Given the description of an element on the screen output the (x, y) to click on. 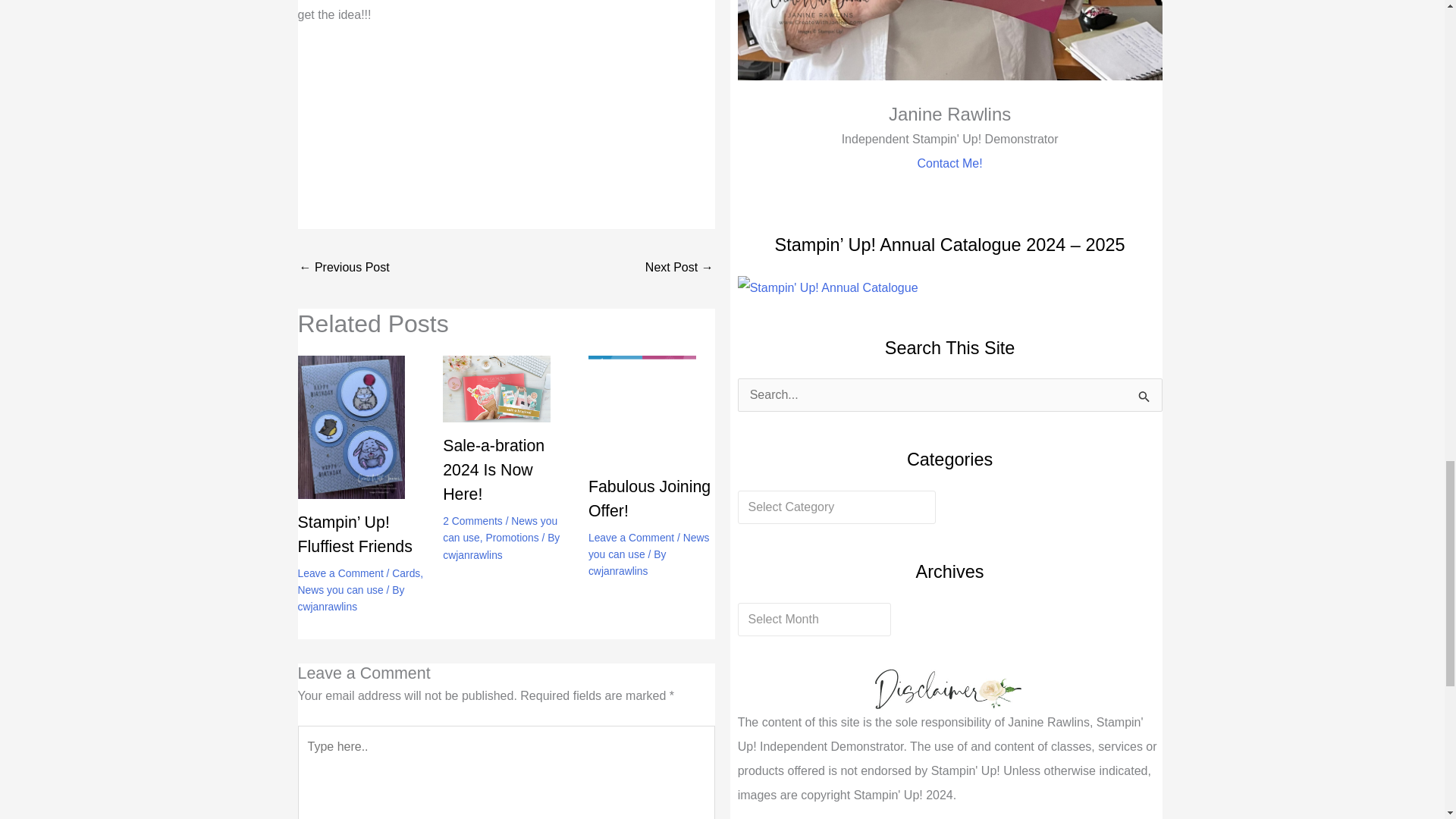
Stampin'Up! Designer Fabric Flower Card (679, 268)
Leave a Comment (339, 573)
View all posts by cwjanrawlins (326, 606)
View all posts by cwjanrawlins (472, 554)
View all posts by cwjanrawlins (617, 571)
